Given the description of an element on the screen output the (x, y) to click on. 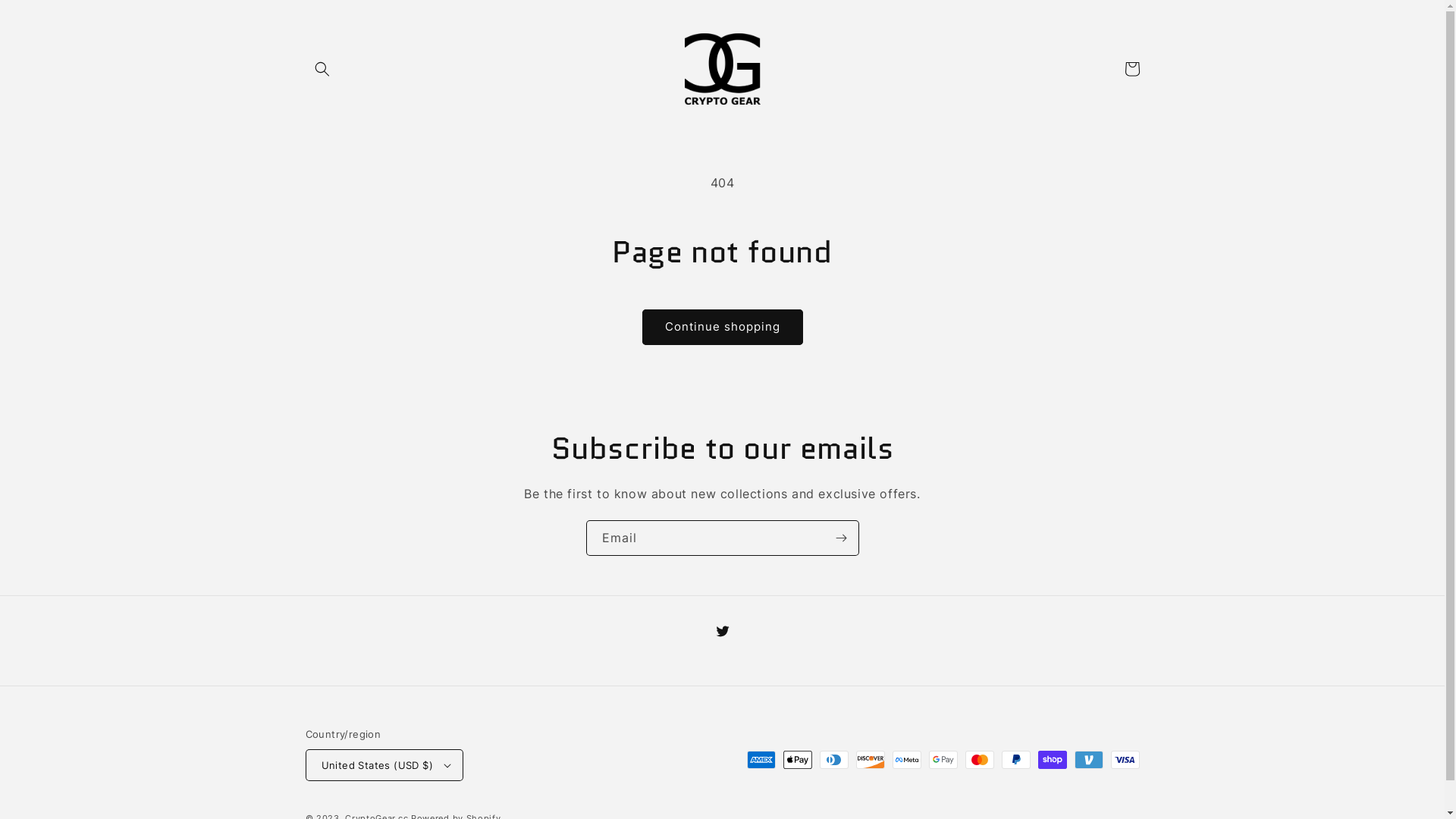
Cart Element type: text (1131, 68)
United States (USD $) Element type: text (383, 765)
Continue shopping Element type: text (721, 327)
Twitter Element type: text (721, 630)
